Given the description of an element on the screen output the (x, y) to click on. 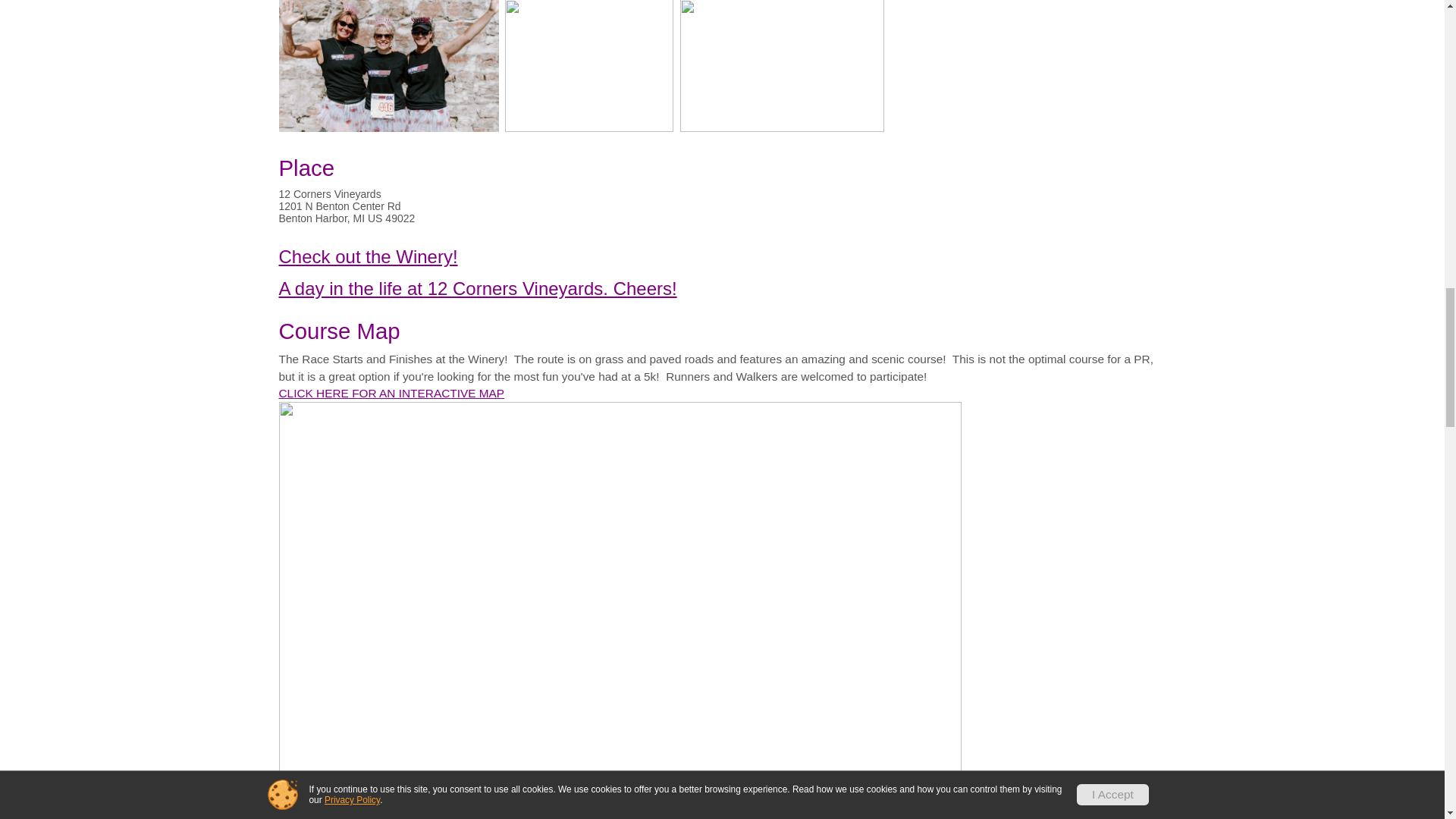
COURSE MAP (392, 392)
Check out the Winery! (368, 256)
A day in the life at 12 Corners Vineyards. Cheers! (478, 288)
CLICK HERE FOR AN INTERACTIVE MAP (392, 392)
